Given the description of an element on the screen output the (x, y) to click on. 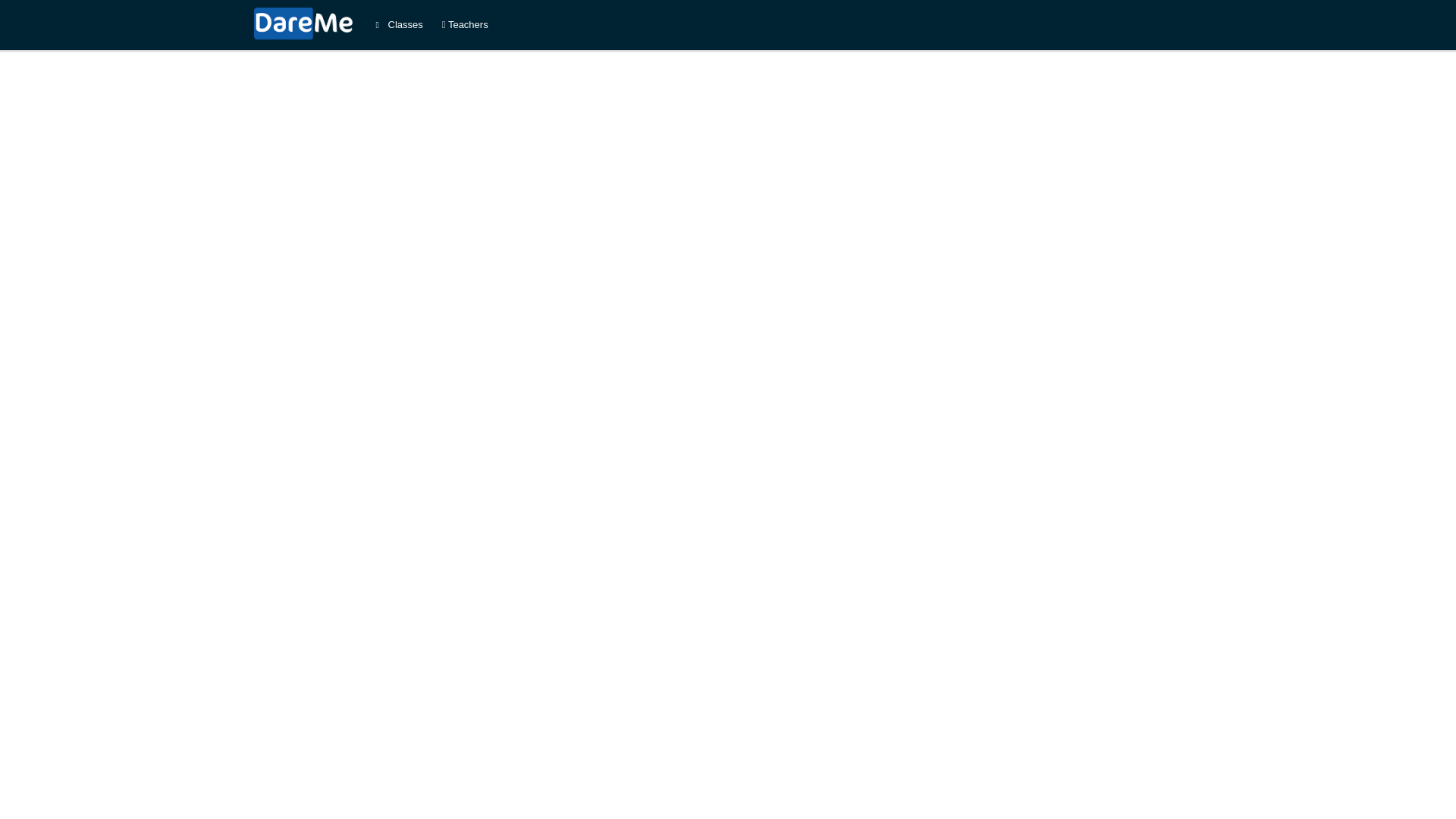
Classes (399, 24)
